Given the description of an element on the screen output the (x, y) to click on. 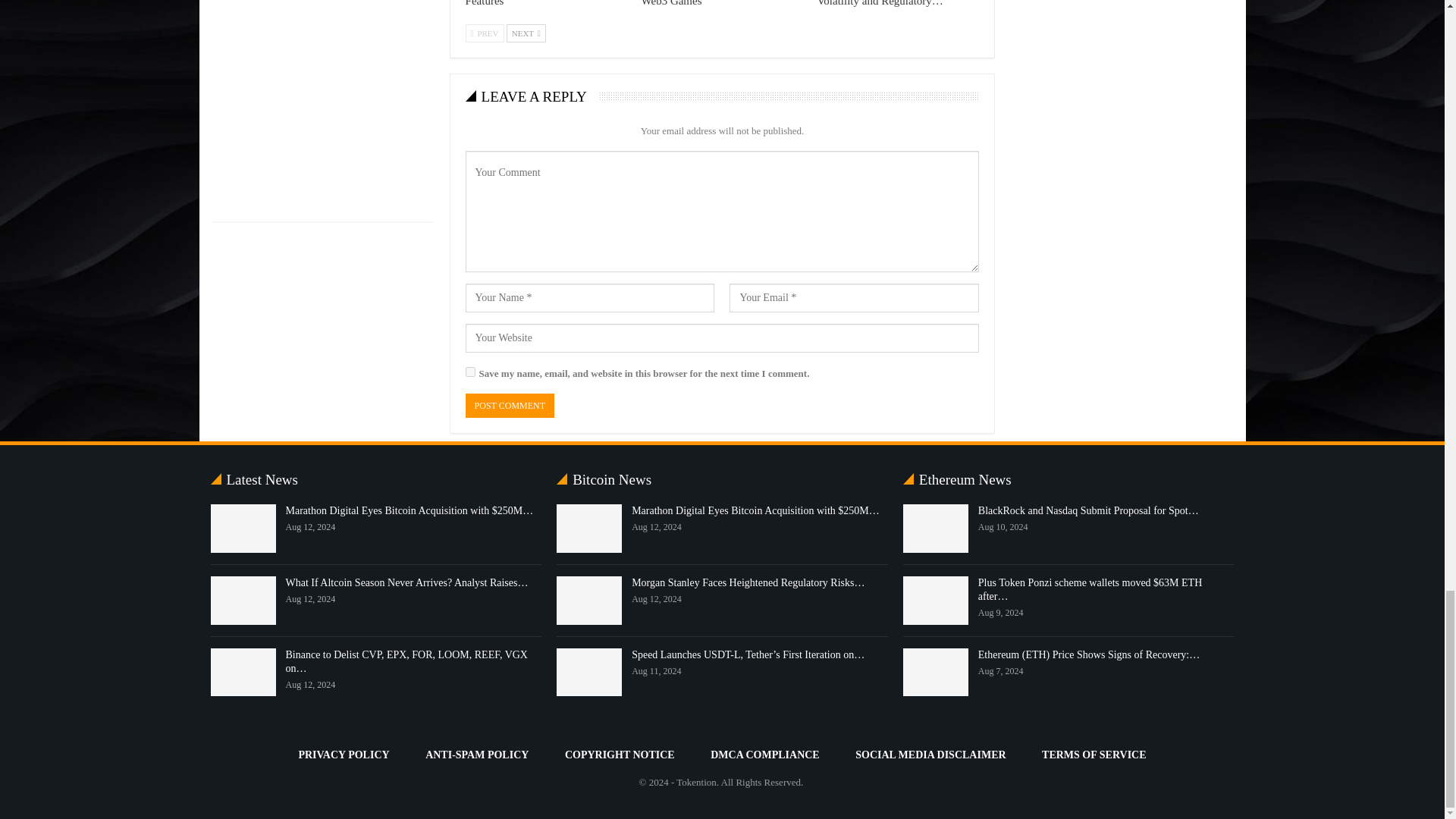
Post Comment (509, 405)
yes (470, 371)
